Given the description of an element on the screen output the (x, y) to click on. 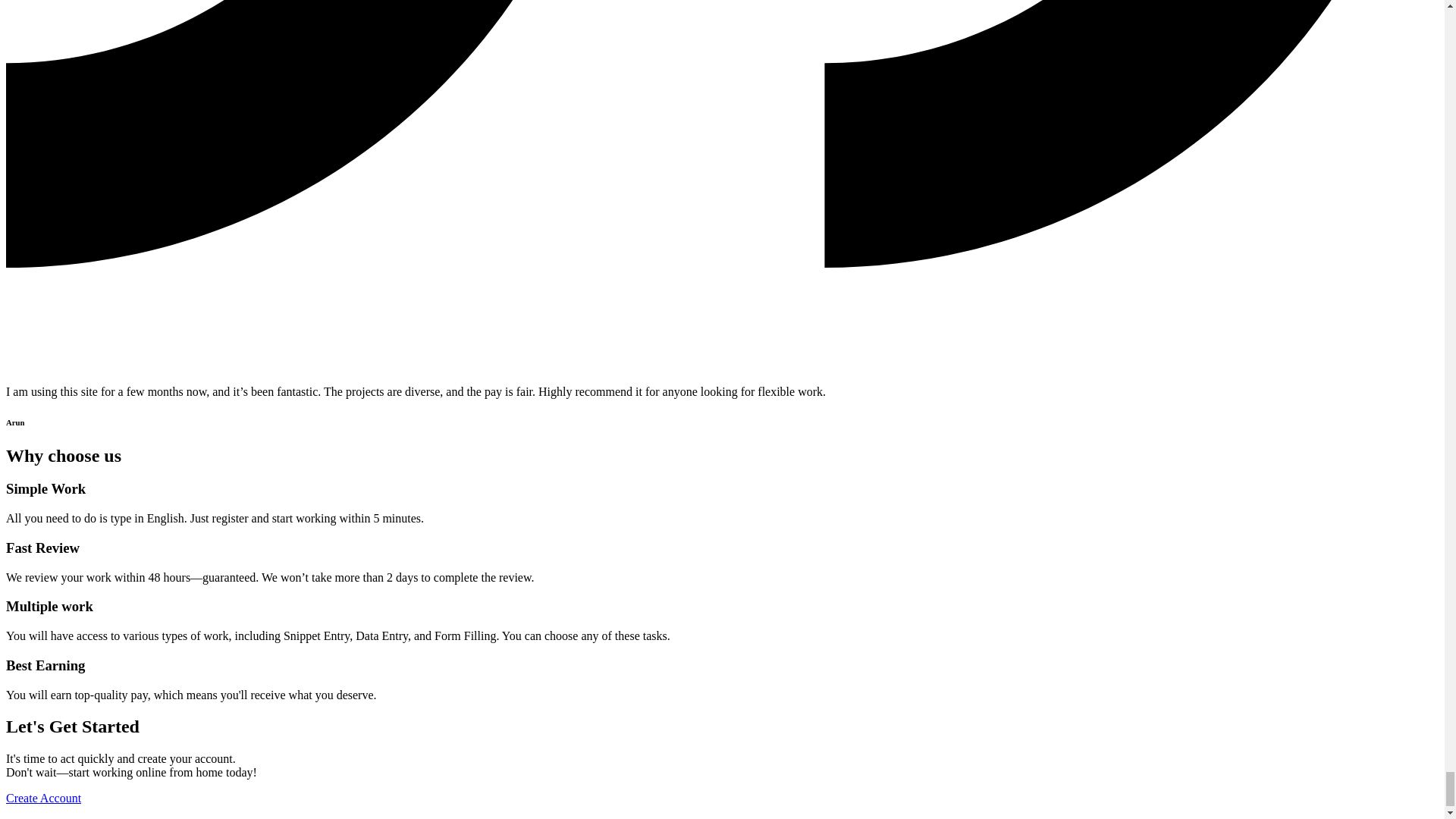
Create Account (43, 797)
